Given the description of an element on the screen output the (x, y) to click on. 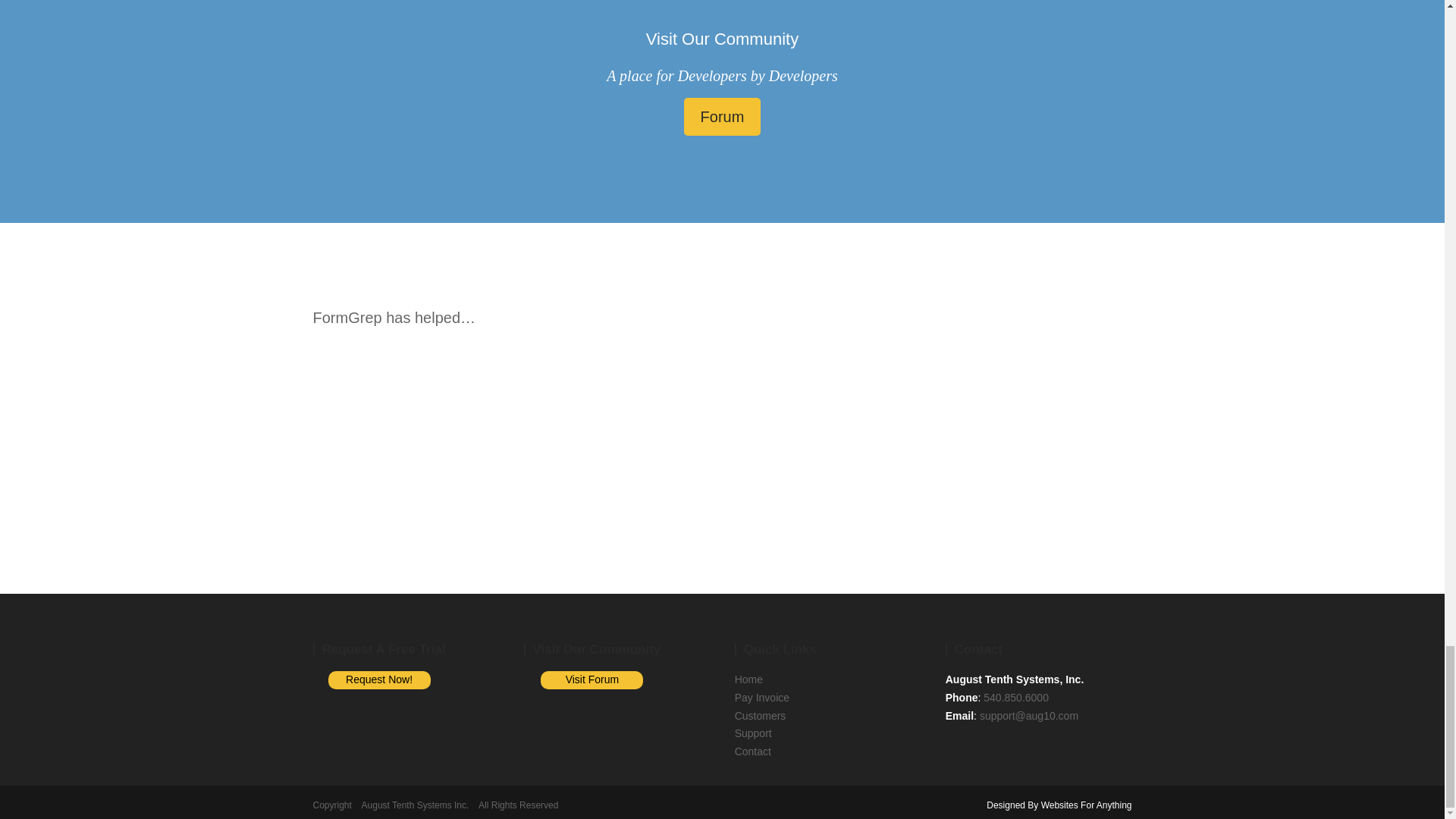
Websites For Anything (1086, 805)
Pay Invoice (762, 697)
Customers (760, 715)
540.850.6000 (1016, 697)
Support (753, 733)
Contact (753, 751)
Forum (722, 116)
Visit Forum (591, 679)
Request Now! (379, 679)
Home (748, 679)
